Given the description of an element on the screen output the (x, y) to click on. 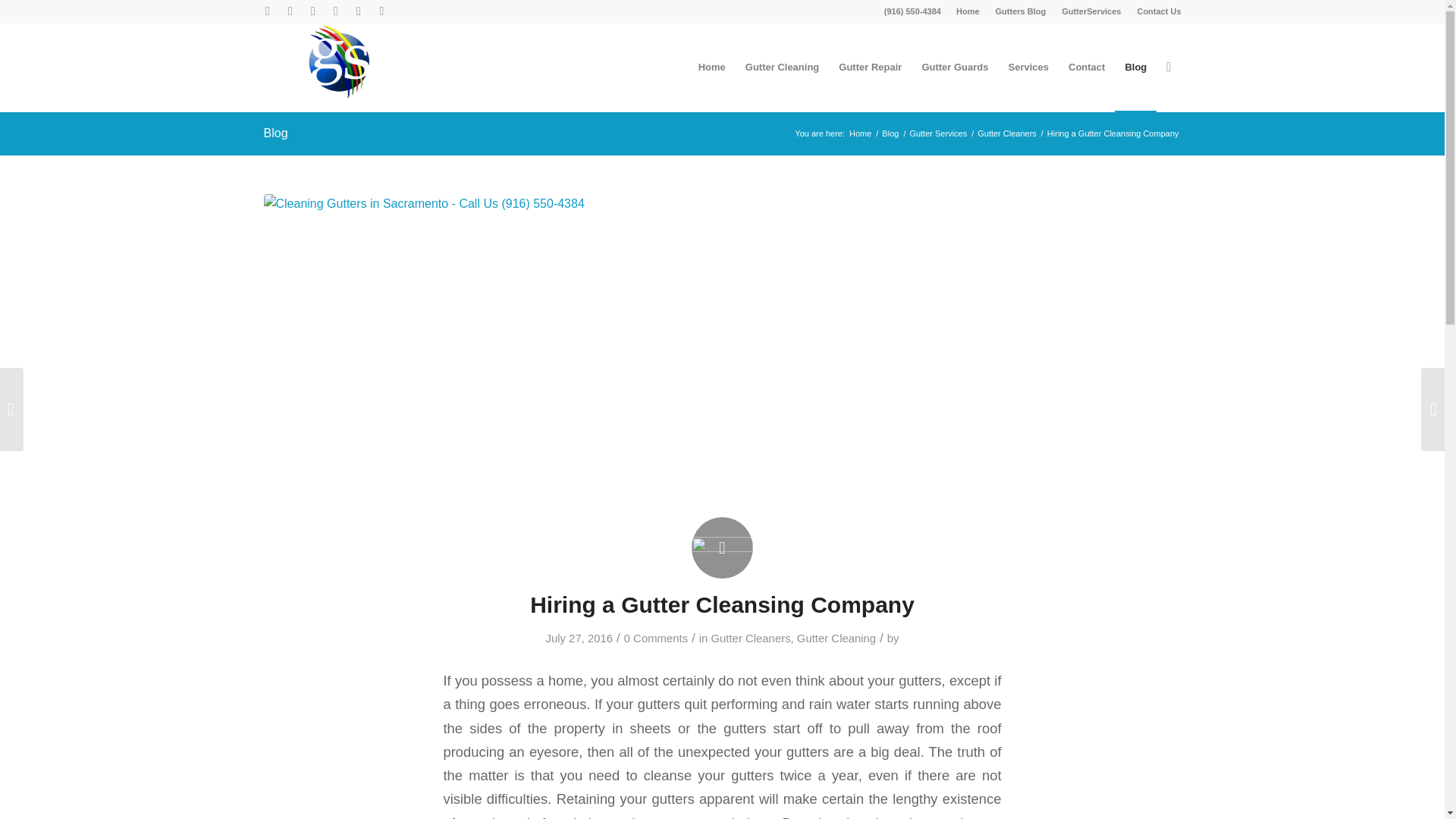
Home (860, 133)
Gutter Services Sacramento (1091, 11)
Gutter Cleaning (782, 67)
Home (967, 11)
Facebook (335, 11)
Blog (890, 133)
Custom Rain Gutter Repair (869, 67)
Gutter Cleaners (1007, 133)
Gutter Cleaning (836, 638)
GutterServices (1091, 11)
